Given the description of an element on the screen output the (x, y) to click on. 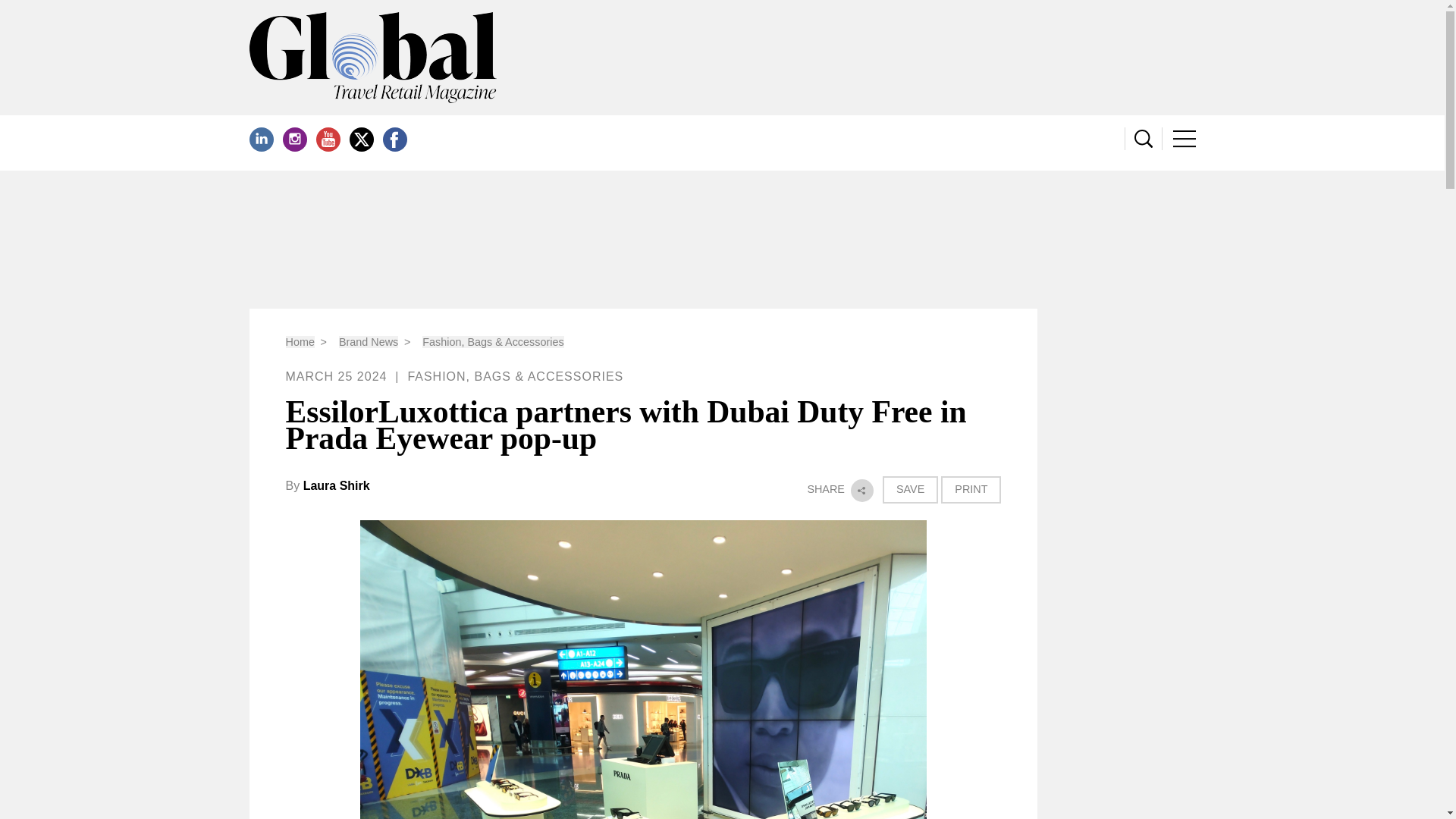
instagram (293, 139)
facebook (393, 139)
LinkedIn (260, 139)
twitter (360, 139)
youtube (327, 139)
Home (299, 341)
Brand News (368, 341)
3rd party ad content (722, 239)
